Given the description of an element on the screen output the (x, y) to click on. 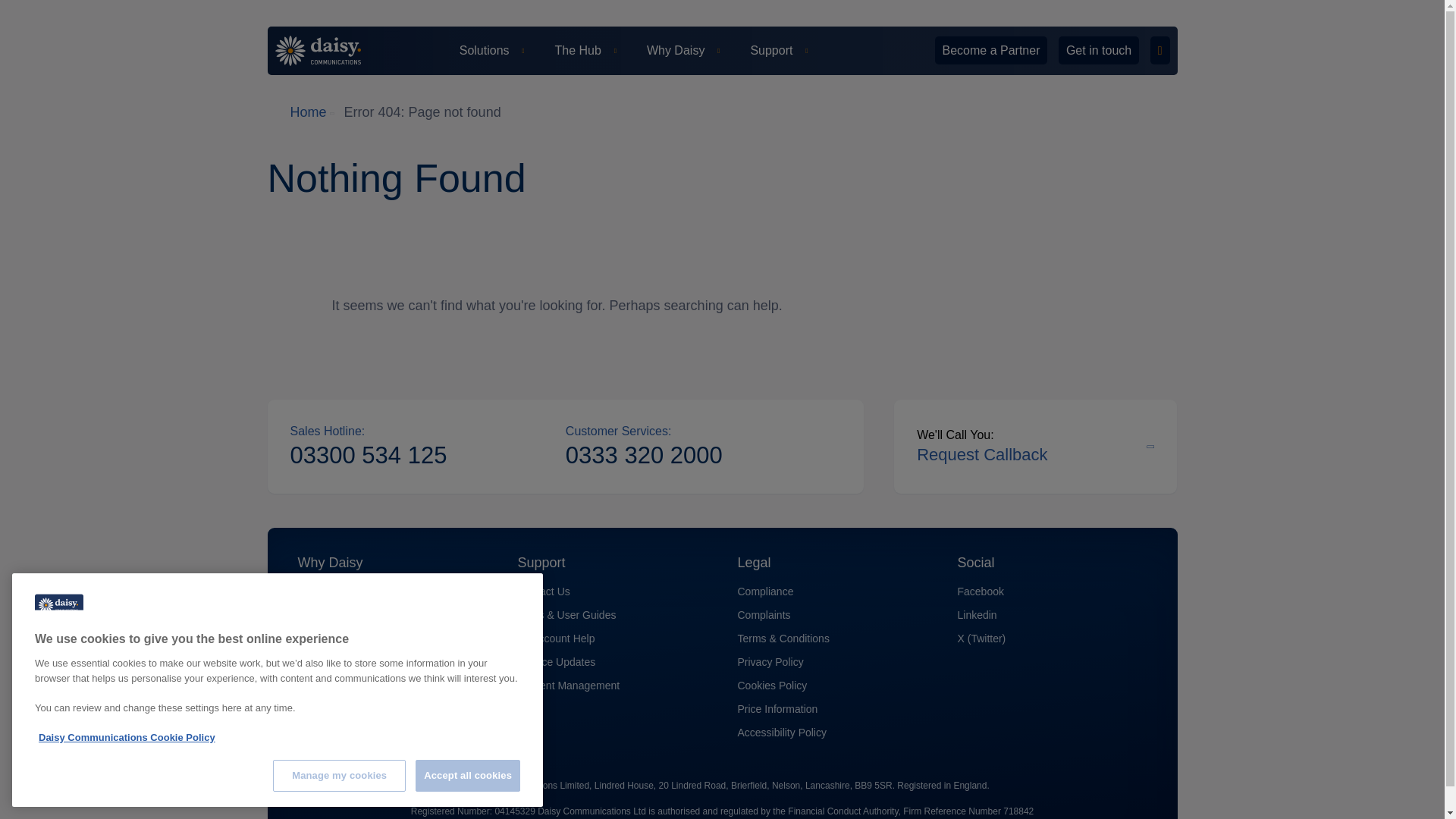
Facebook (979, 591)
Company Logo (58, 604)
Back to Homepage (328, 51)
The Hub (585, 50)
Linkedin (975, 615)
Customer reviews powered by Trustpilot (1050, 112)
Solutions (491, 50)
